Given the description of an element on the screen output the (x, y) to click on. 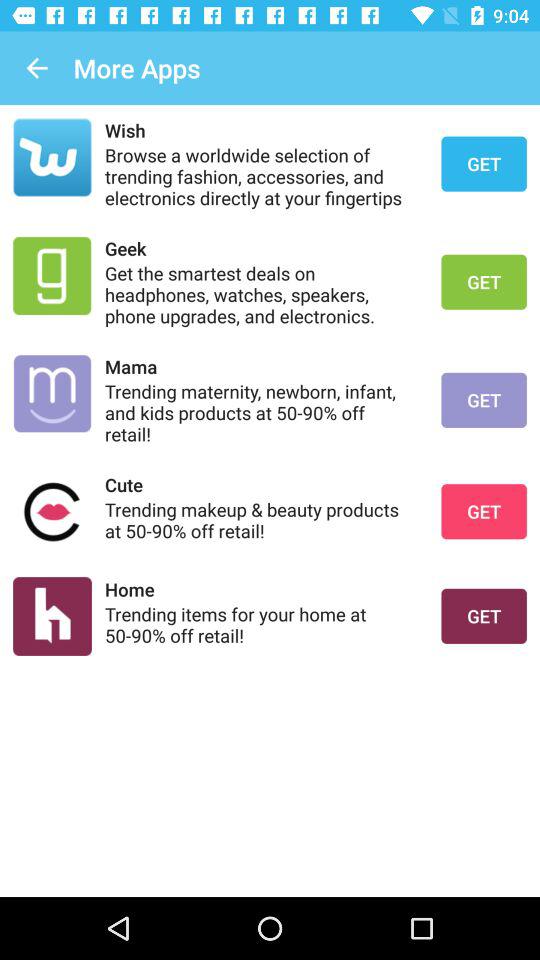
click wish icon (260, 130)
